Given the description of an element on the screen output the (x, y) to click on. 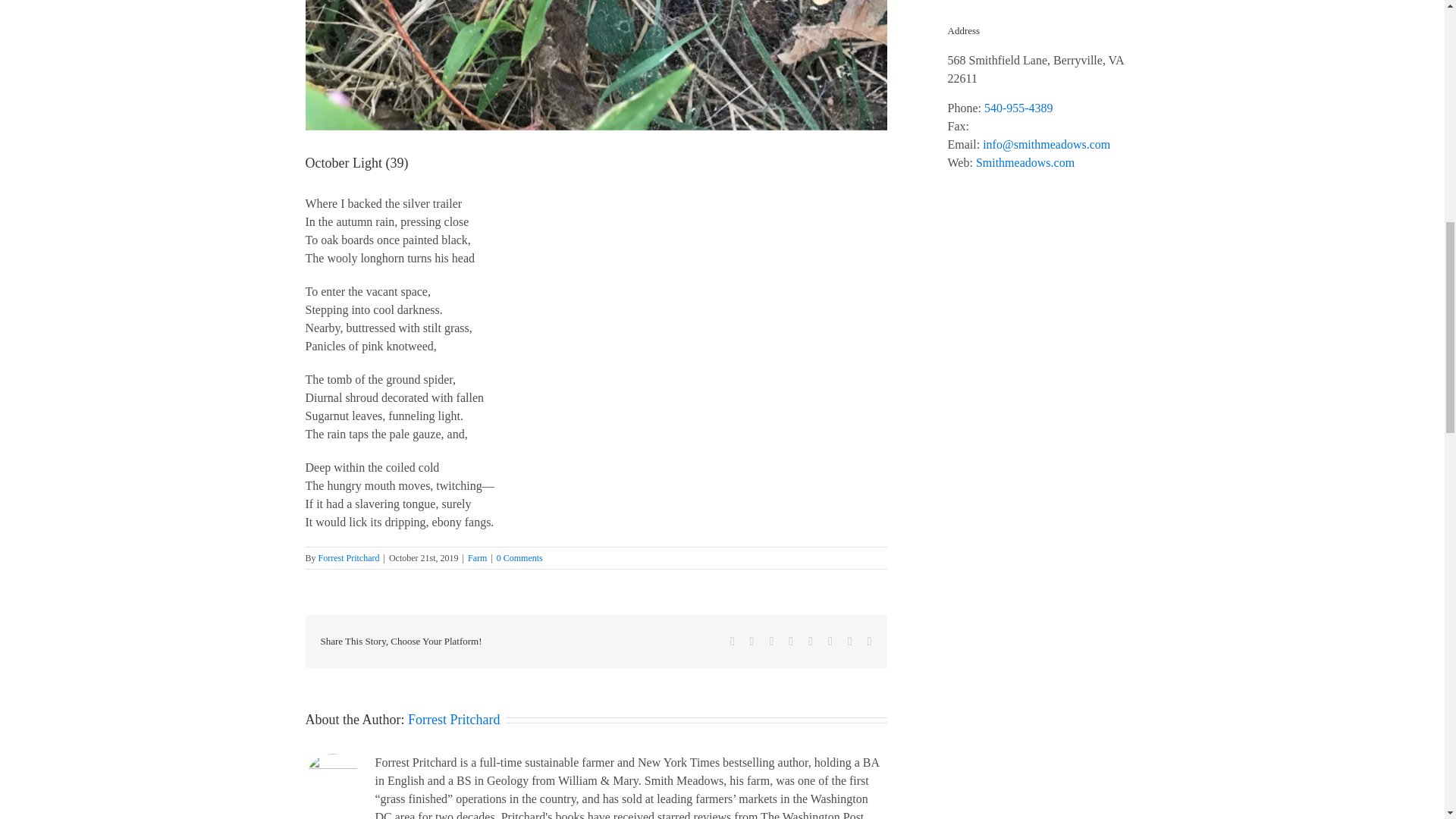
0 Comments (519, 557)
Forrest Pritchard (453, 719)
Forrest Pritchard (349, 557)
View Larger Image (595, 65)
Farm (476, 557)
Posts by Forrest Pritchard (349, 557)
